Given the description of an element on the screen output the (x, y) to click on. 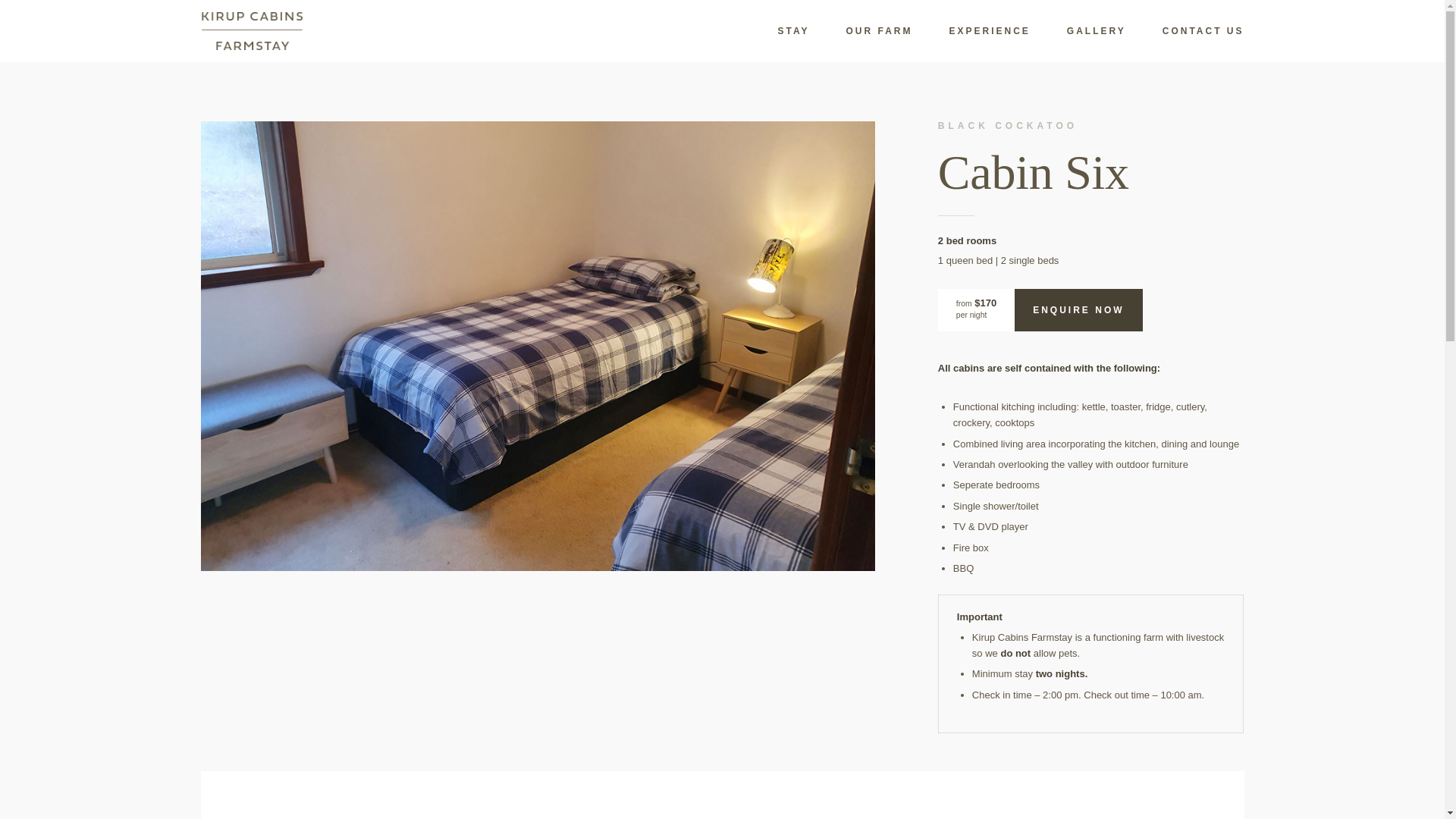
GALLERY Element type: text (1078, 31)
STAY Element type: text (774, 31)
ENQUIRE NOW Element type: text (1078, 309)
CONTACT US Element type: text (1185, 31)
EXPERIENCE Element type: text (970, 31)
OUR FARM Element type: text (860, 31)
Cabin_6_Bedroom_2 Element type: hover (537, 346)
